Given the description of an element on the screen output the (x, y) to click on. 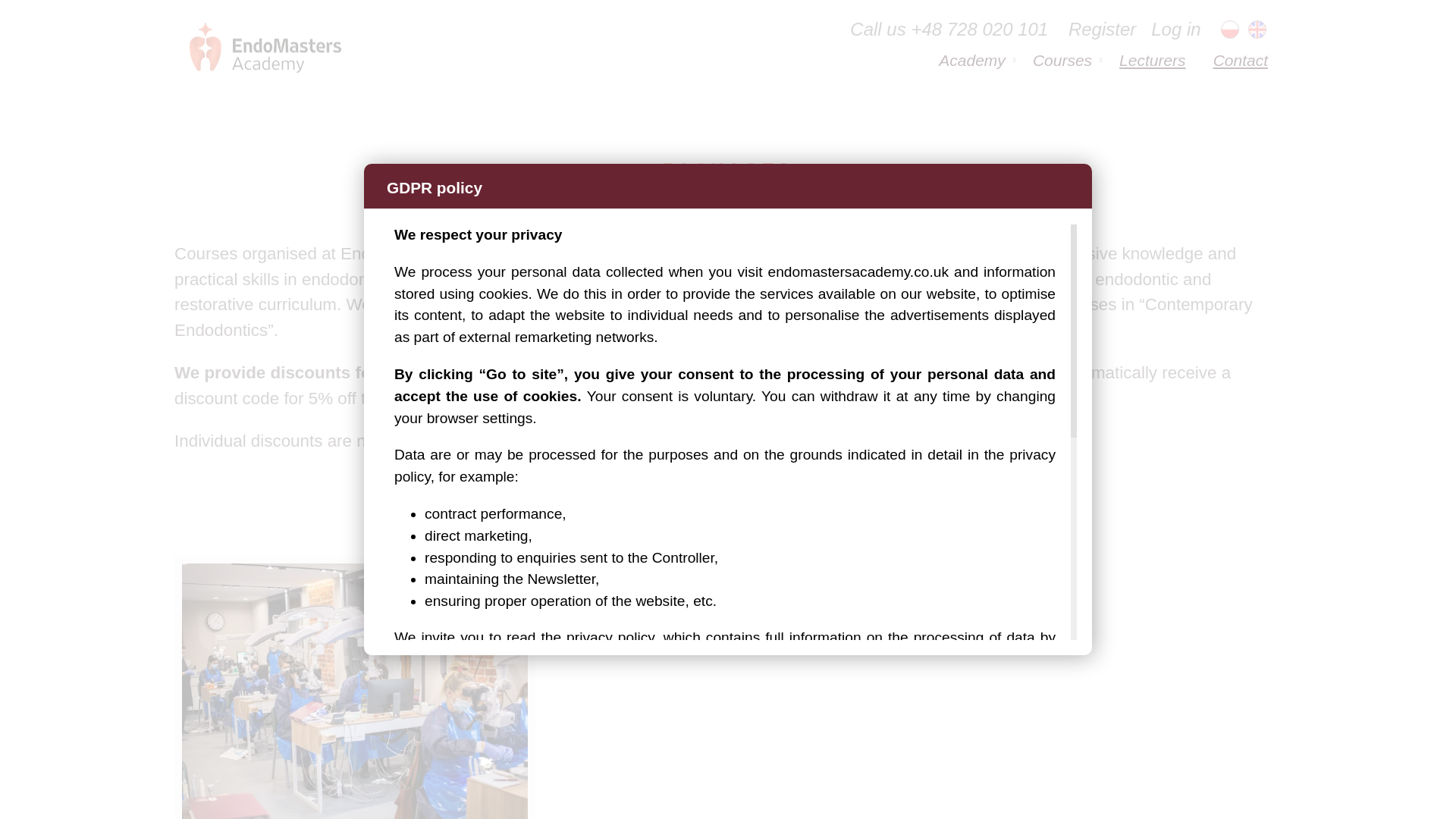
Polish (1230, 29)
Polish (1230, 29)
Contact (1240, 60)
Lecturers (1152, 60)
Register (1101, 28)
Log in (1175, 28)
English (1256, 29)
English (1256, 29)
